Given the description of an element on the screen output the (x, y) to click on. 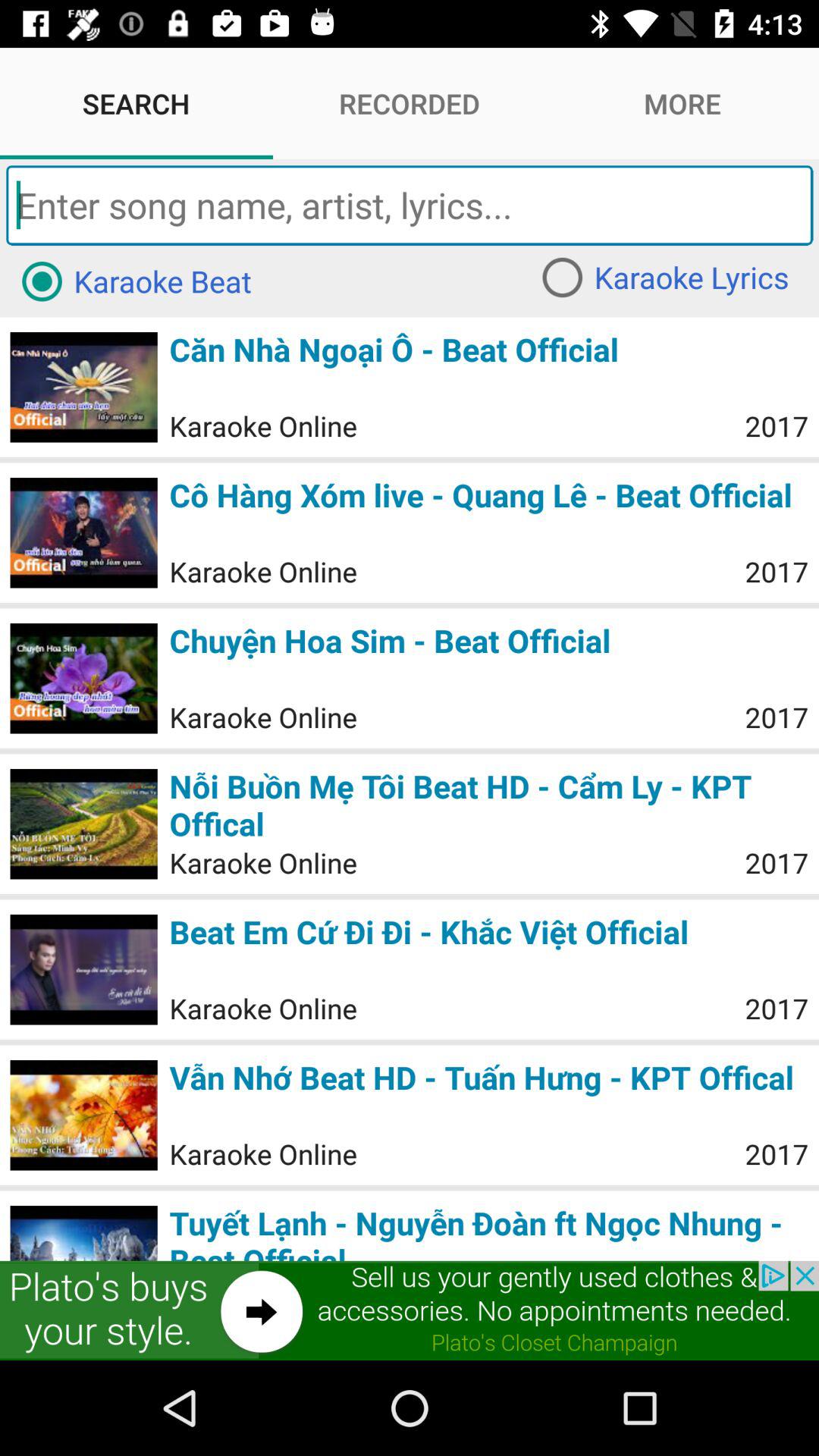
go to addverdisment (409, 1310)
